Given the description of an element on the screen output the (x, y) to click on. 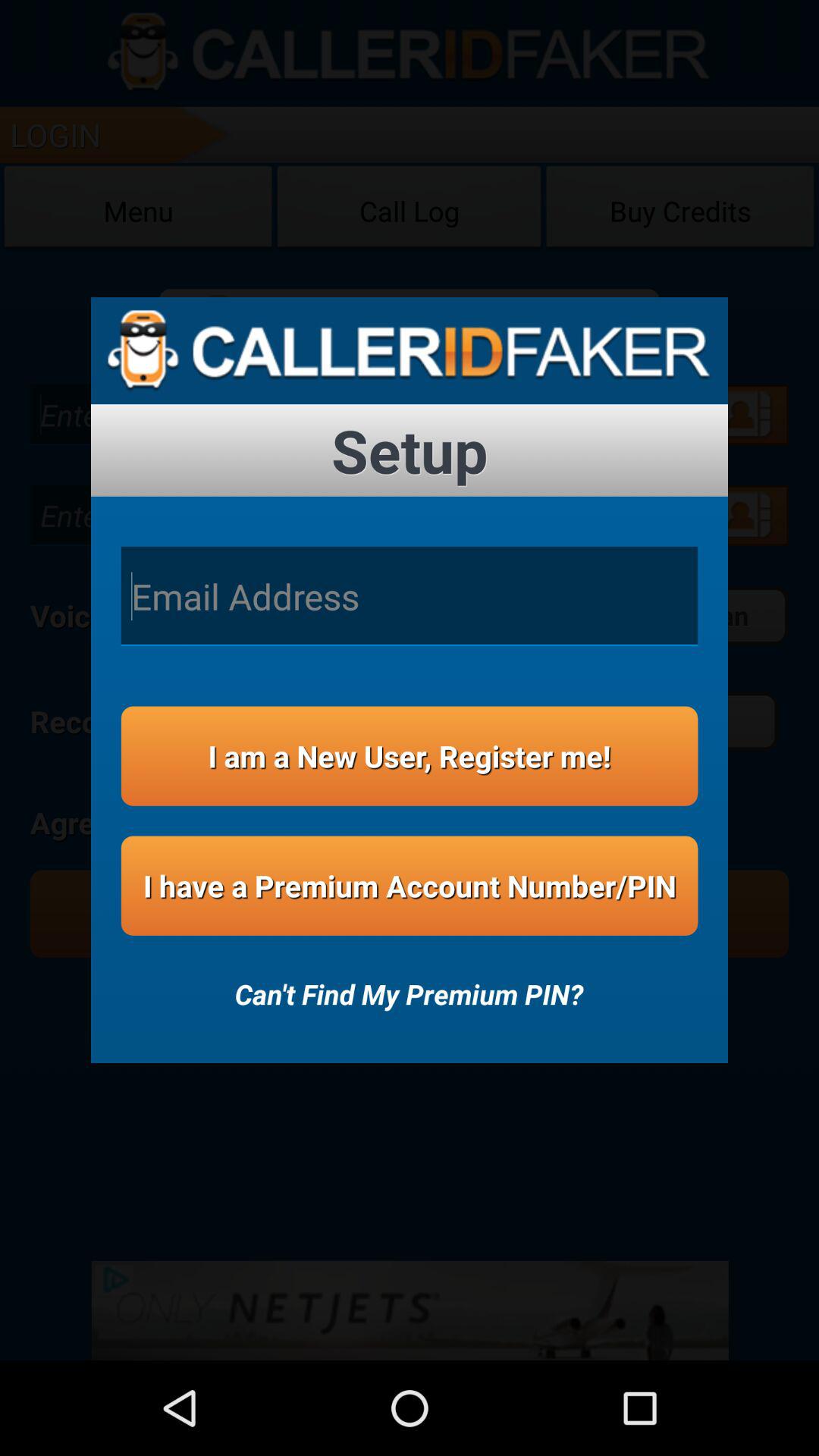
turn off setup (409, 450)
